Given the description of an element on the screen output the (x, y) to click on. 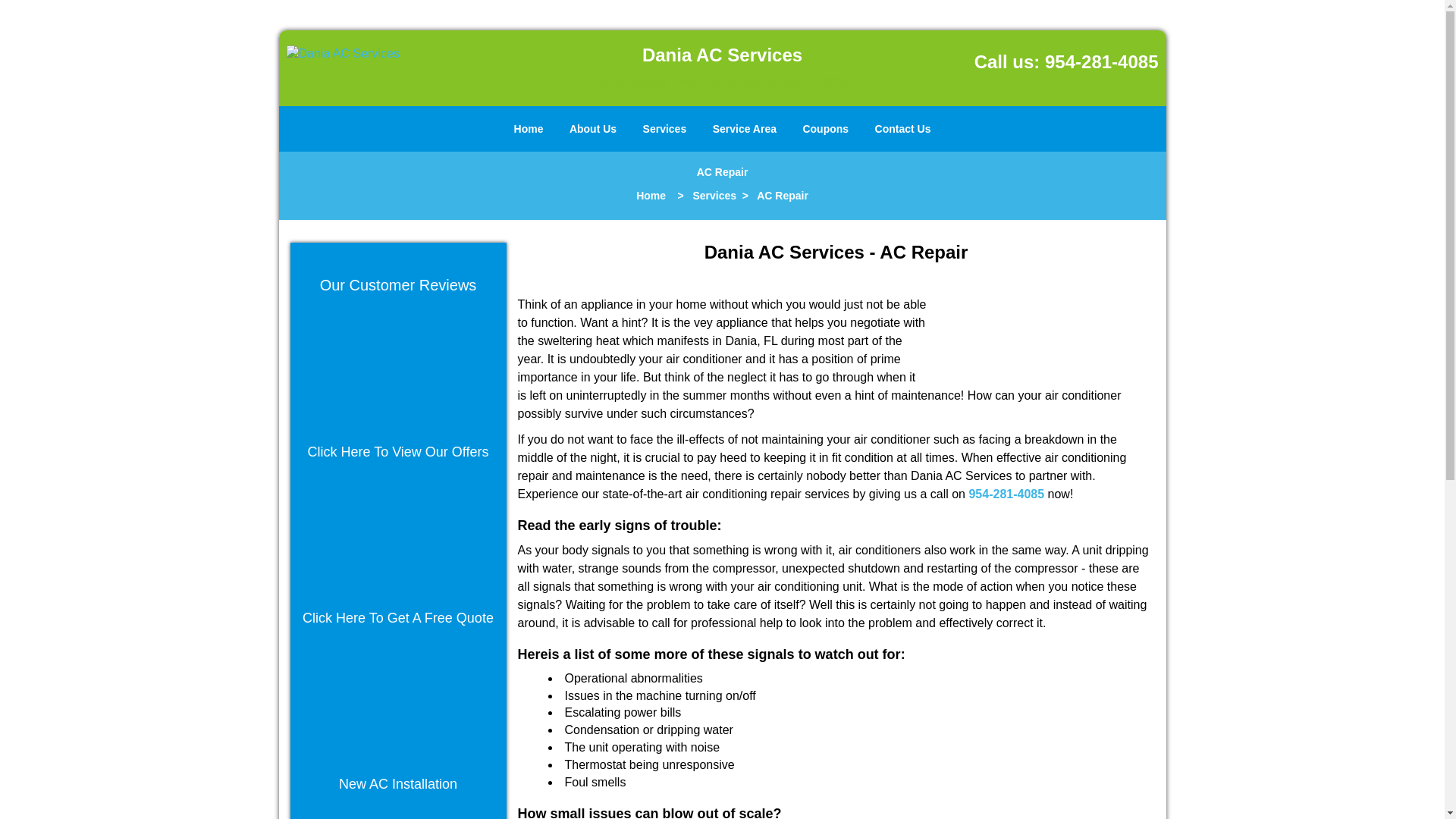
954-281-4085 (1101, 61)
954-281-4085 (1005, 493)
About Us (592, 128)
Click Here To Get A Free Quote (397, 618)
Services (664, 128)
Click Here To View Our Offers (397, 452)
Coupons (825, 128)
Services (714, 195)
New AC Installation (398, 783)
Contact Us (902, 128)
